Given the description of an element on the screen output the (x, y) to click on. 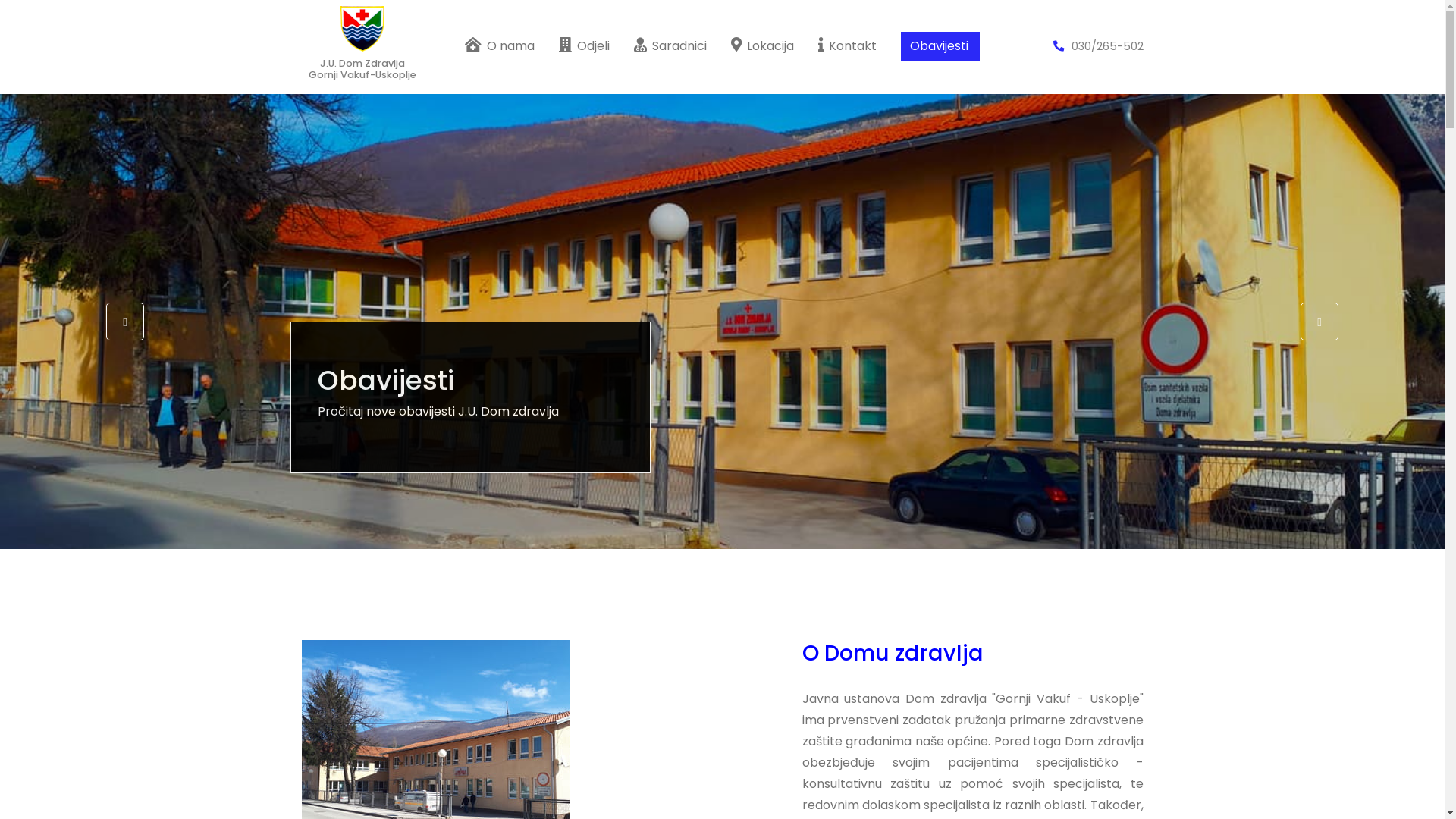
Odjeli Element type: text (583, 46)
Lokacija Element type: text (762, 46)
J.U. Dom Zdravlja
Gornji Vakuf-Uskoplje Element type: text (361, 43)
Obavijesti Element type: text (937, 46)
Kontakt Element type: text (847, 46)
O nama Element type: text (499, 46)
Saradnici Element type: text (669, 46)
